Given the description of an element on the screen output the (x, y) to click on. 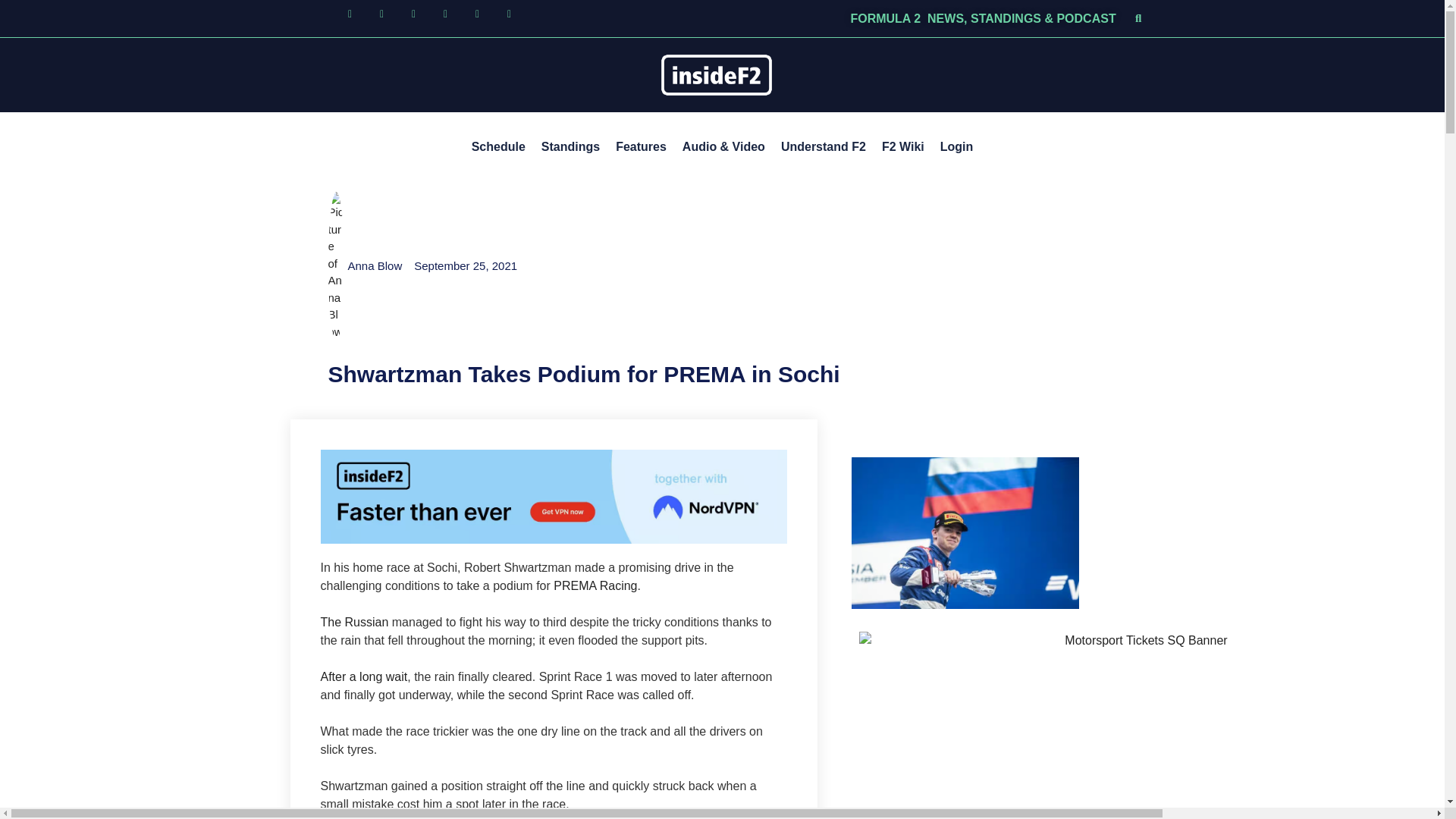
Understand F2 (823, 146)
Standings (570, 146)
F2 Wiki (903, 146)
The Russian (354, 621)
Schedule (498, 146)
Features (641, 146)
Login (957, 146)
After a long wait (363, 676)
September 25, 2021 (464, 266)
PREMA Racing (595, 585)
